Given the description of an element on the screen output the (x, y) to click on. 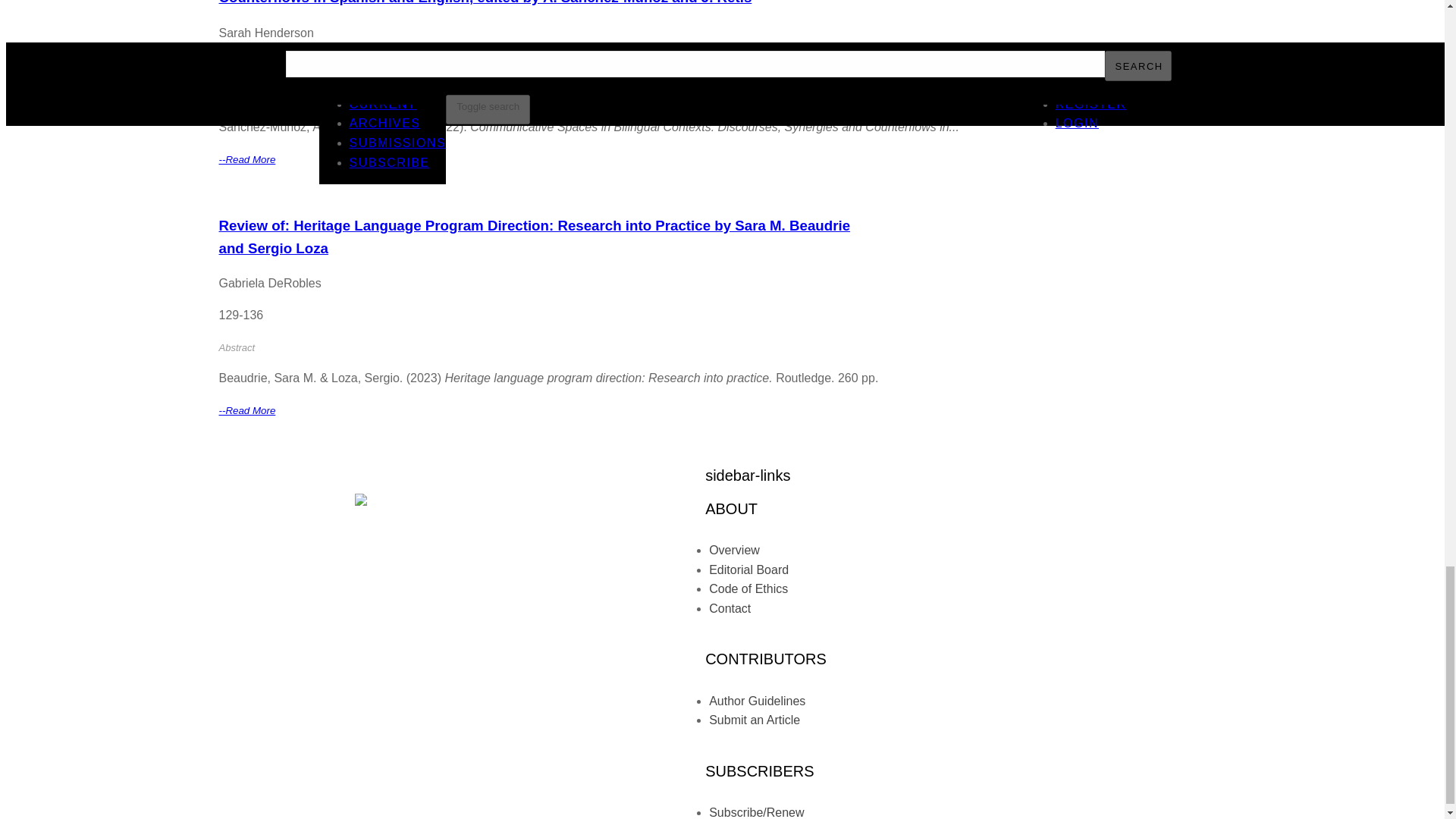
Email Address (327, 621)
Phone Number (329, 604)
--Read More (246, 409)
REQUIRES SUBSCRIPTION OR FEE HTML (879, 190)
REQUIRES SUBSCRIPTION OR FEE PDF (627, 190)
--Read More (246, 158)
